Given the description of an element on the screen output the (x, y) to click on. 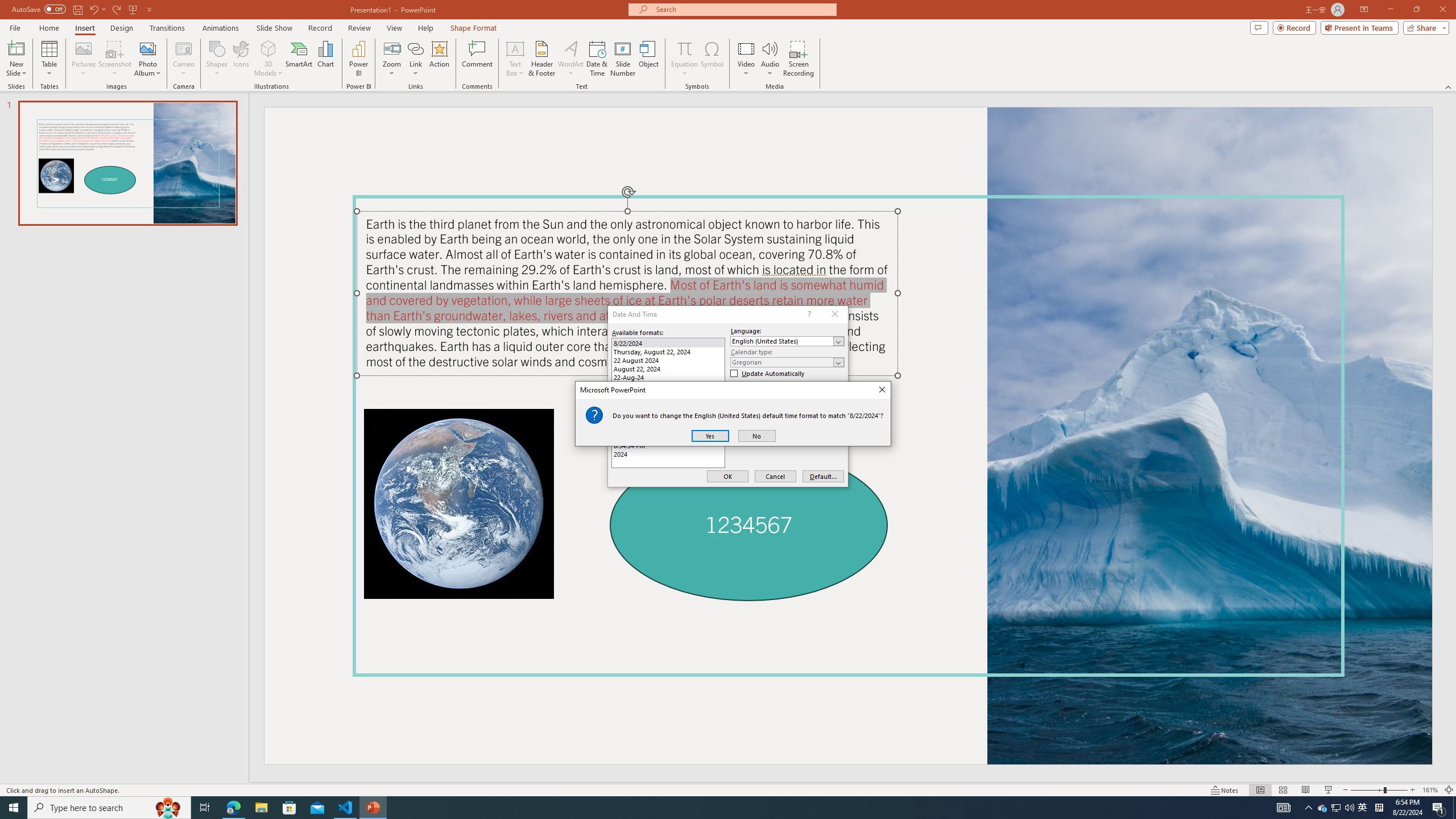
Photo Album... (147, 58)
8/22/2024 (667, 343)
Language (787, 340)
Restore Down (1416, 9)
Header & Footer... (541, 58)
Minimize (1390, 9)
Task View (204, 807)
WordArt (570, 58)
Save (77, 9)
PowerPoint - 1 running window (1335, 807)
AutoSave (373, 807)
Screenshot (38, 9)
